Given the description of an element on the screen output the (x, y) to click on. 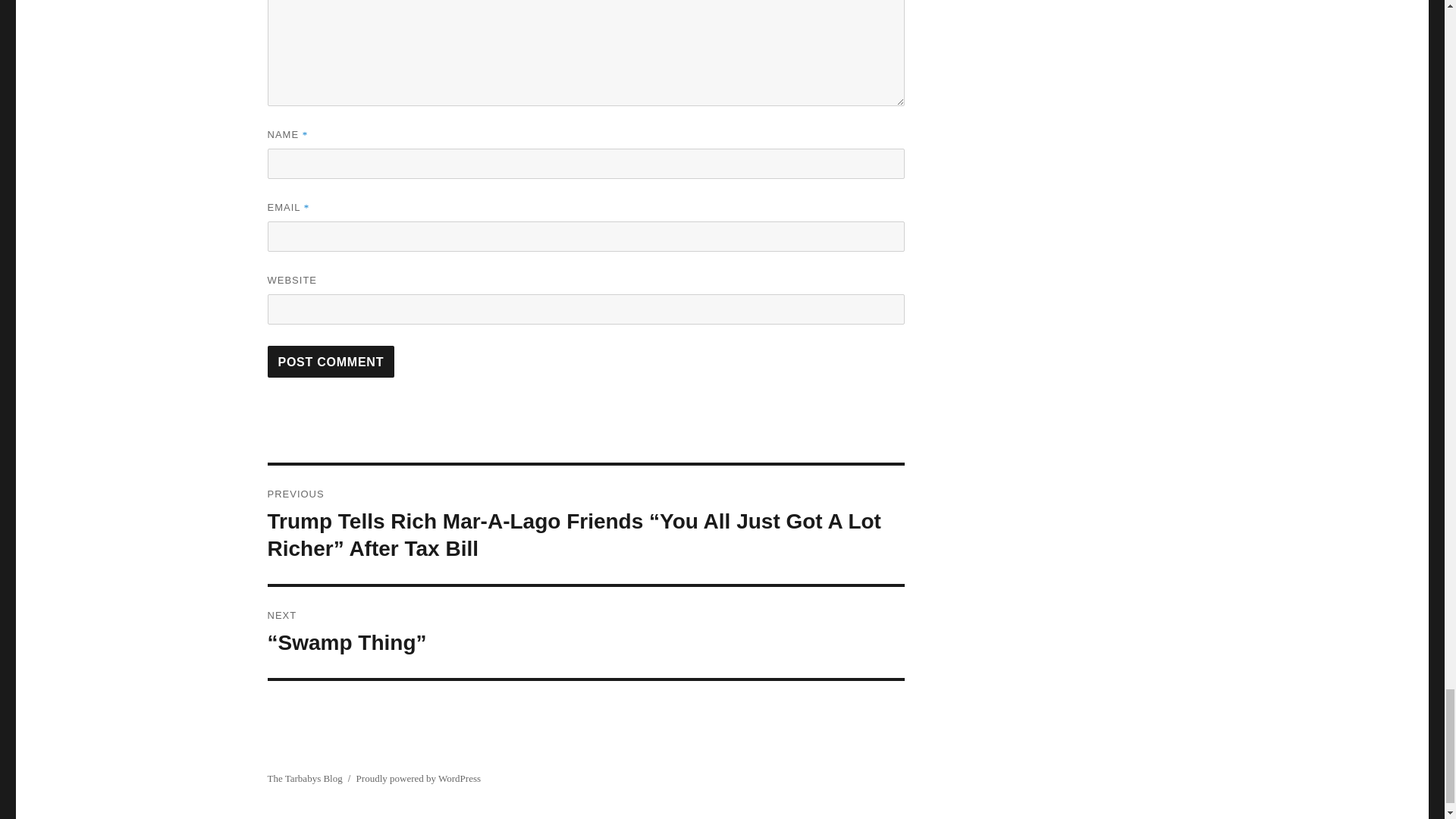
Post Comment (330, 361)
Post Comment (330, 361)
